Given the description of an element on the screen output the (x, y) to click on. 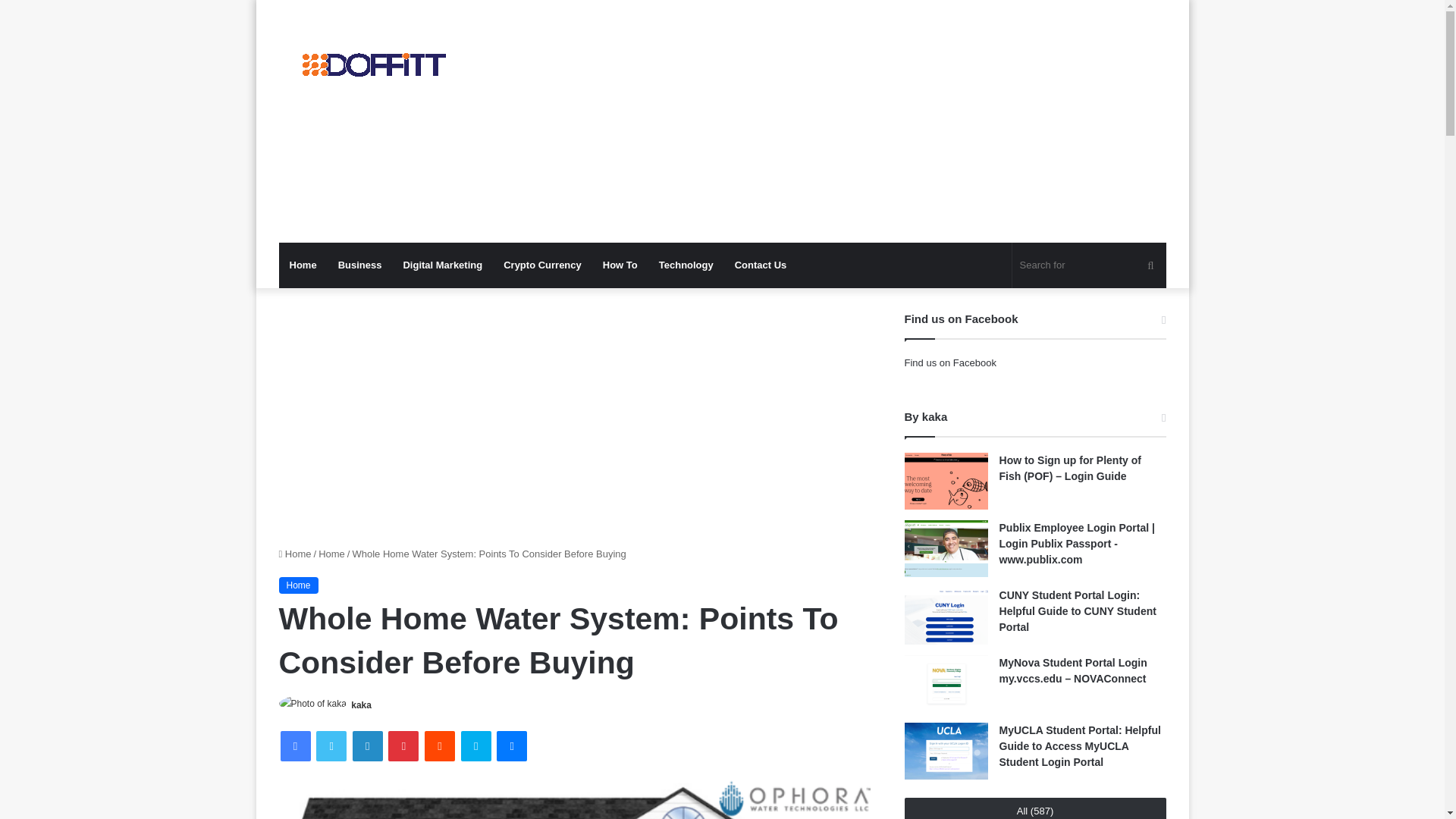
Pinterest (403, 746)
Business (360, 265)
Facebook (296, 746)
Advertisement (874, 121)
Messenger (511, 746)
LinkedIn (367, 746)
Search for (1088, 265)
Twitter (330, 746)
LinkedIn (367, 746)
Reddit (439, 746)
Pinterest (403, 746)
Skype (476, 746)
Skype (476, 746)
How To (619, 265)
